Given the description of an element on the screen output the (x, y) to click on. 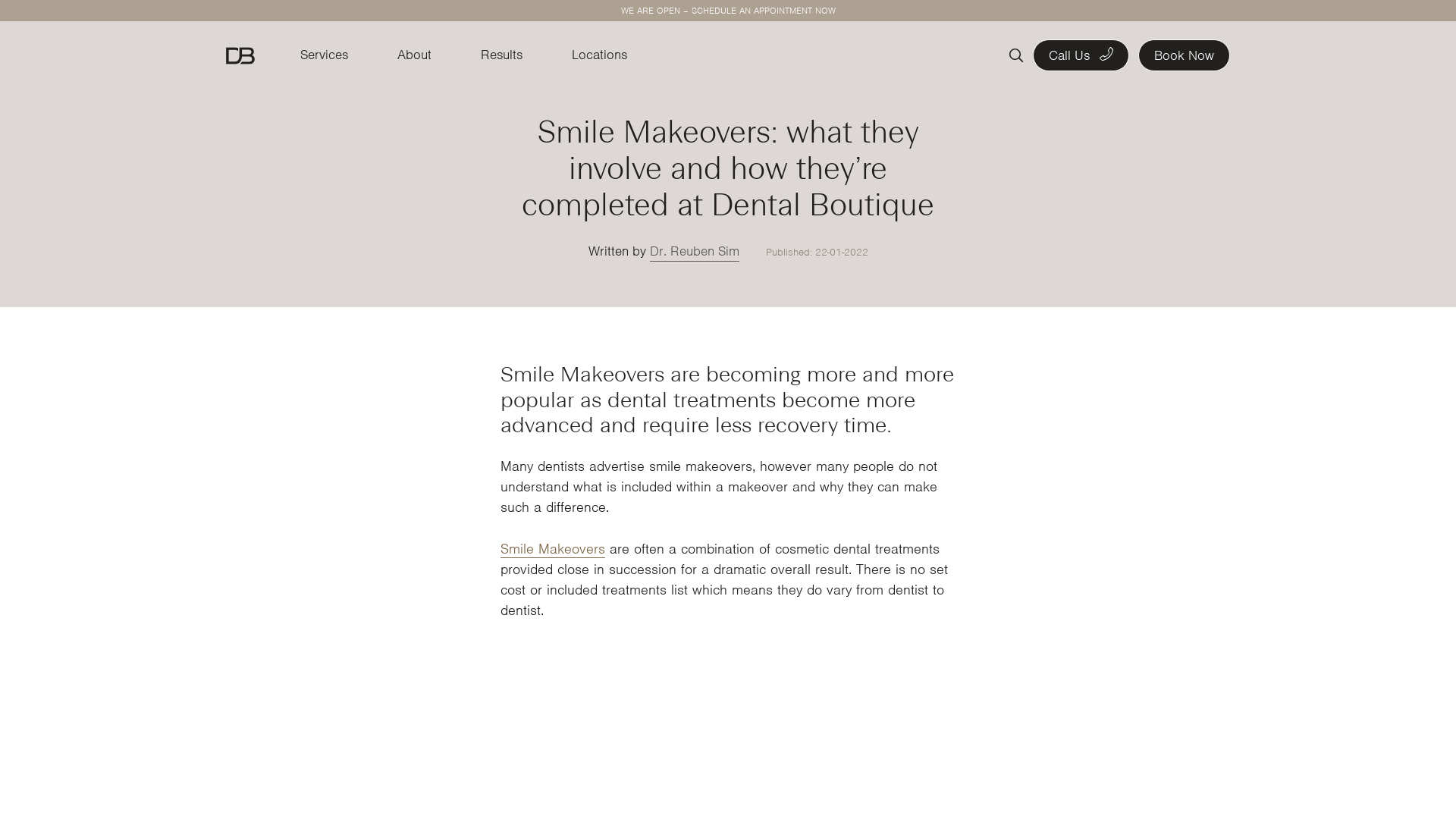
Back to home Element type: hover (239, 55)
Services Element type: text (324, 54)
Book Now Element type: text (1184, 55)
Call Us Element type: text (1080, 55)
Results Element type: text (501, 54)
Locations Element type: text (599, 54)
About Element type: text (414, 54)
Smile Makeovers Element type: text (552, 548)
Dr. Reuben Sim Element type: text (693, 251)
